Given the description of an element on the screen output the (x, y) to click on. 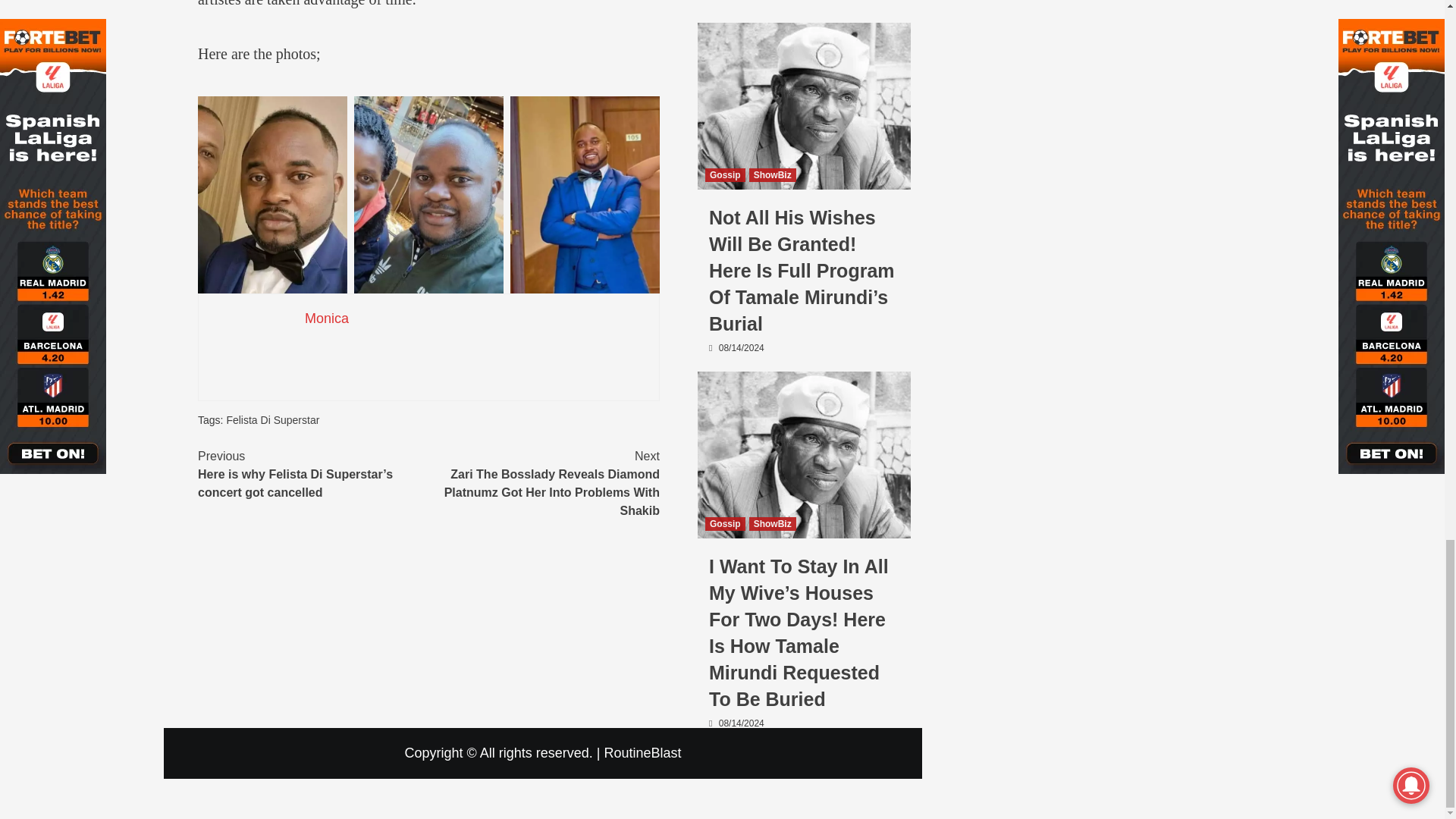
Felista Di Superstar (271, 419)
Monica (326, 318)
